Given the description of an element on the screen output the (x, y) to click on. 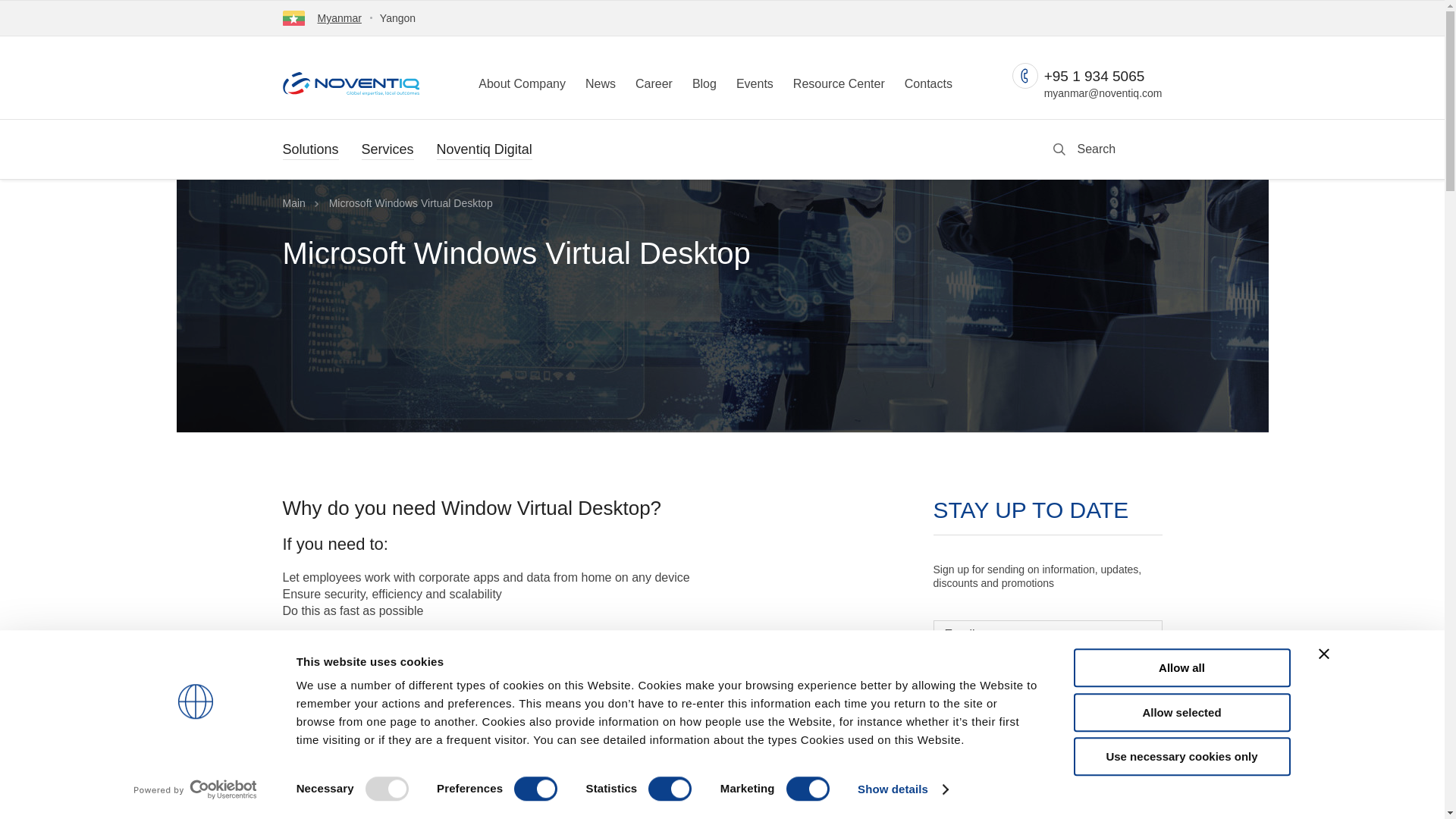
Show details (902, 789)
Allow selected (1182, 712)
Subscribe (1047, 809)
Allow all (1182, 667)
Use necessary cookies only (1182, 756)
